Given the description of an element on the screen output the (x, y) to click on. 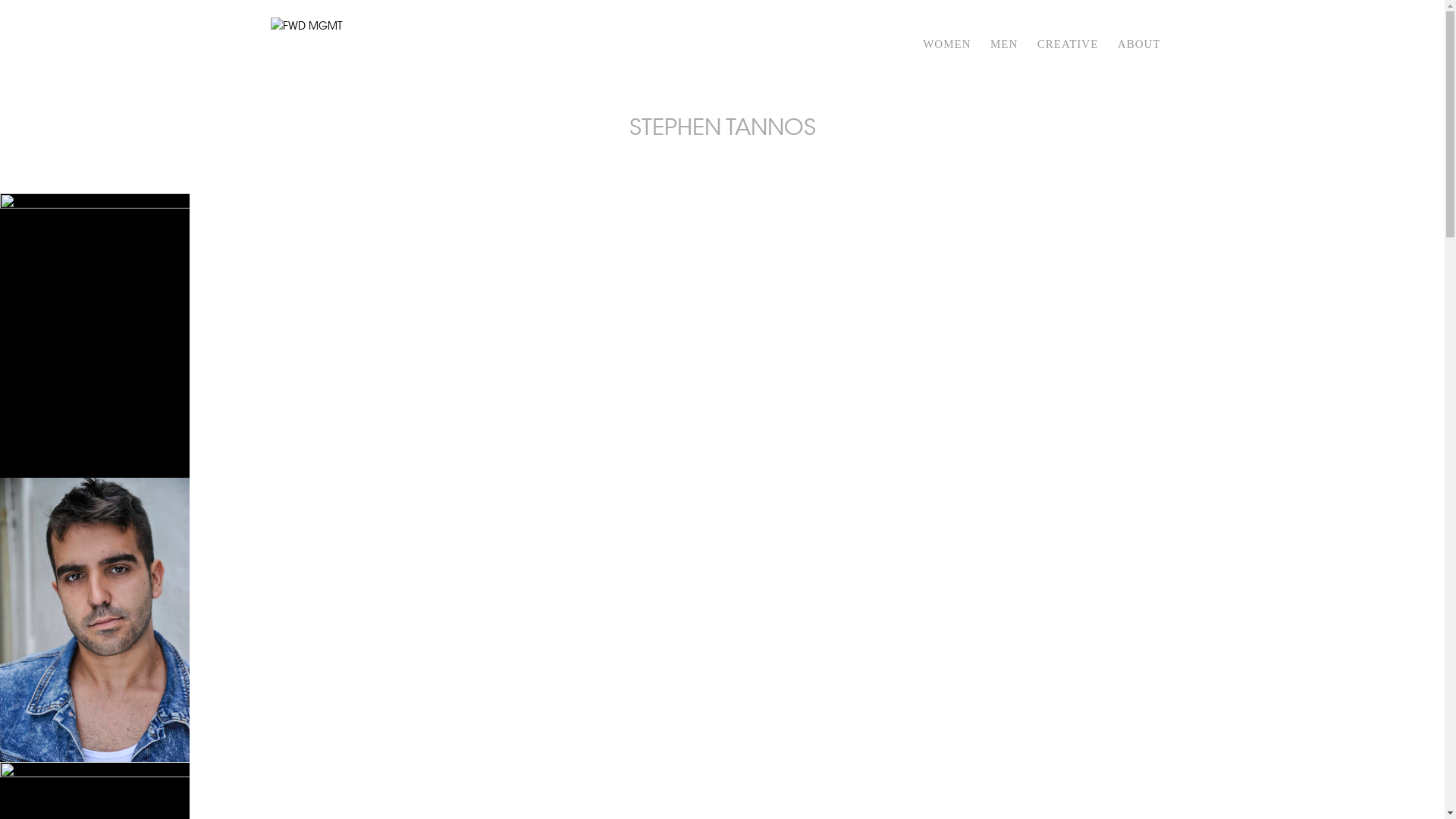
MEN Element type: text (1003, 62)
ABOUT Element type: text (1139, 62)
CREATIVE Element type: text (1067, 62)
WOMEN Element type: text (946, 62)
